Given the description of an element on the screen output the (x, y) to click on. 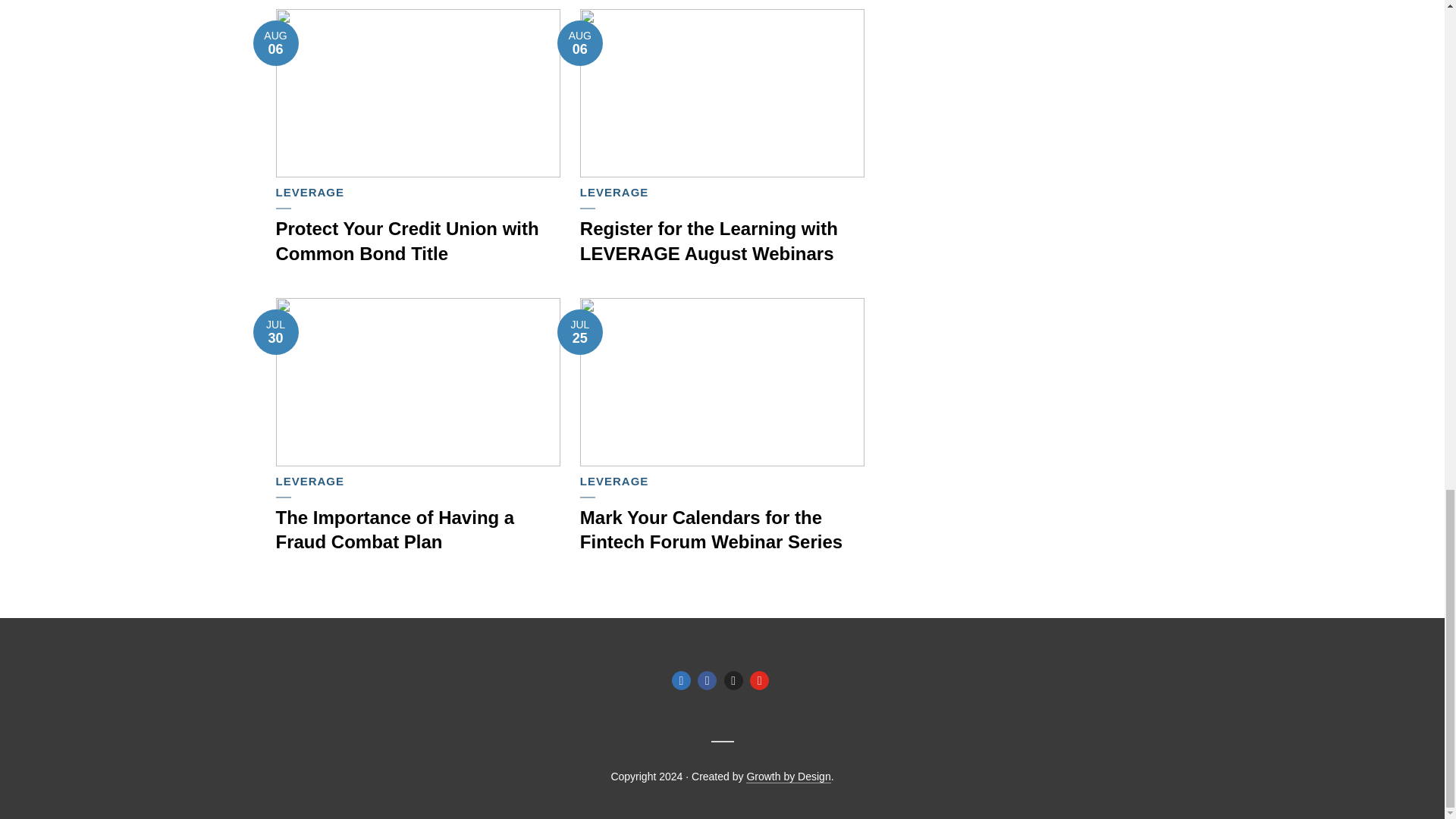
YouTube (758, 680)
Linkedin (680, 680)
Facebook (706, 680)
